Given the description of an element on the screen output the (x, y) to click on. 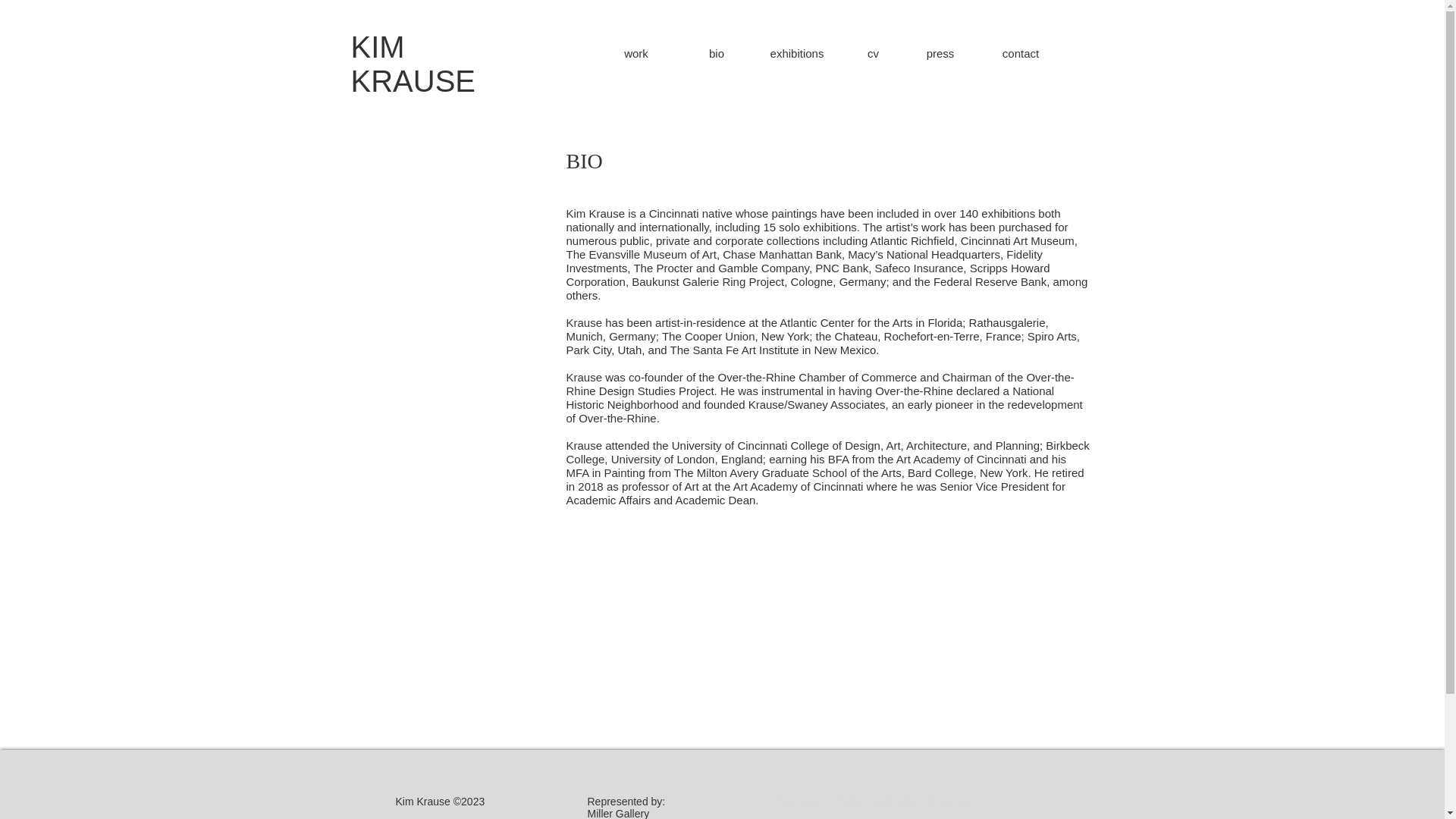
press (939, 52)
work (635, 52)
exhibitions (796, 52)
contact (1020, 52)
cv (873, 52)
bio (716, 52)
